Given the description of an element on the screen output the (x, y) to click on. 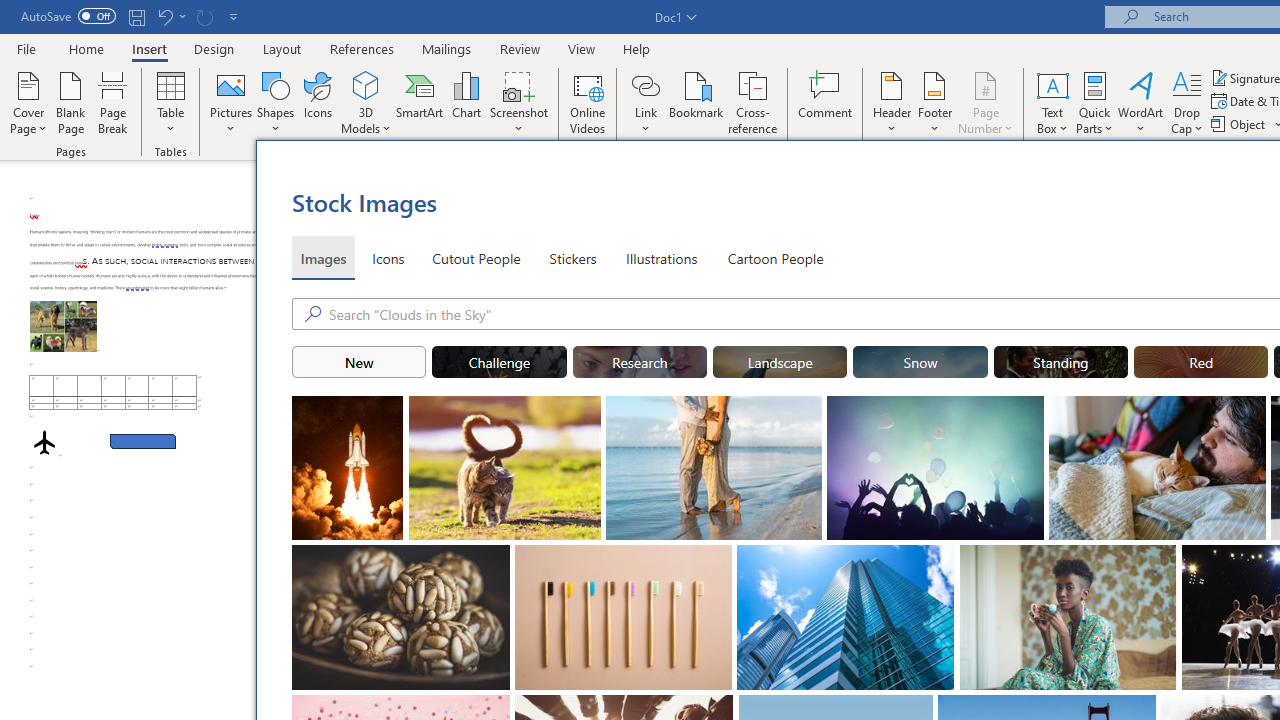
Review (520, 48)
WordArt (1141, 102)
Layout (282, 48)
Cartoon People (775, 258)
"Challenge" Stock Images. (499, 362)
"Snow" Stock Images. (920, 362)
Undo Apply Quick Style Set (170, 15)
Page Break (113, 102)
Cutout People (477, 258)
Icons (317, 102)
Cover Page (28, 102)
Stickers (573, 258)
